Given the description of an element on the screen output the (x, y) to click on. 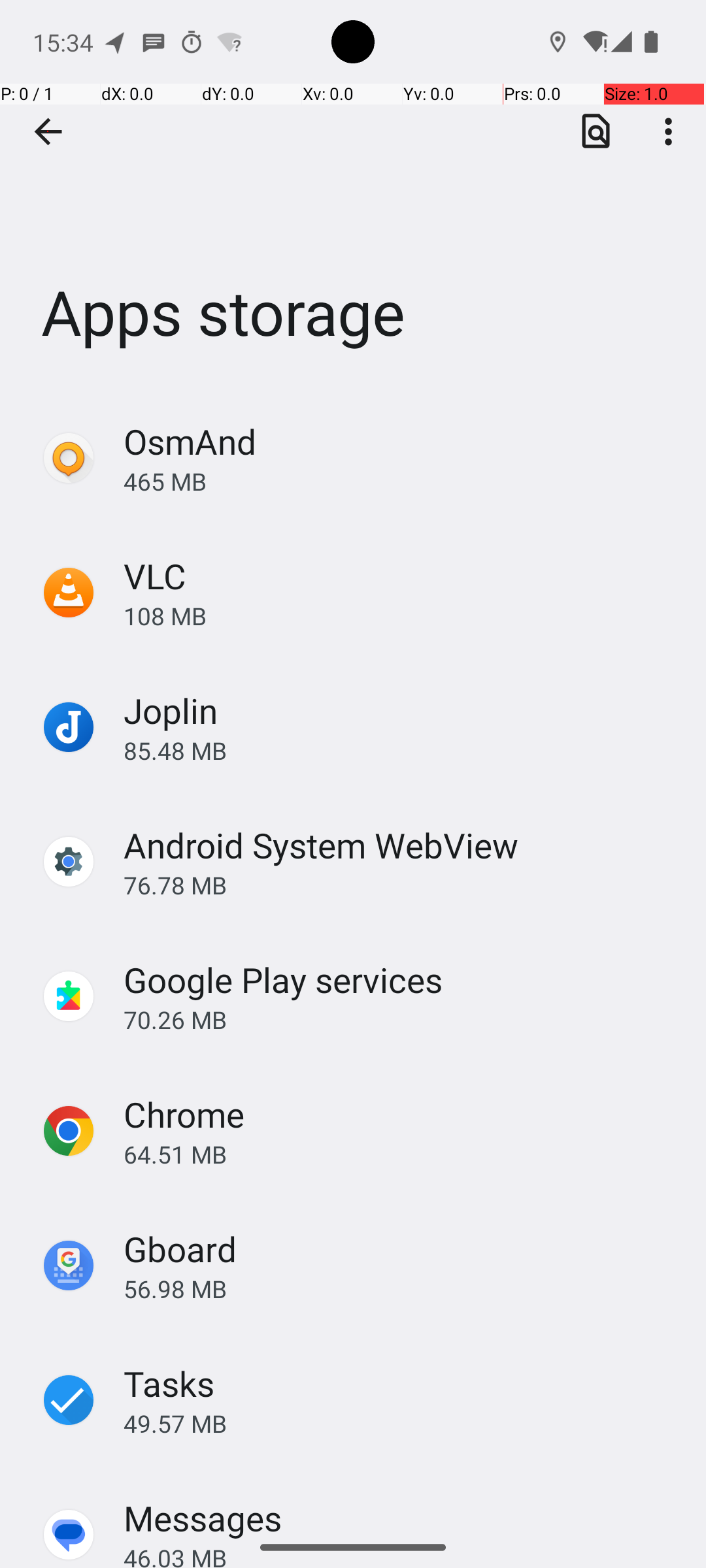
Apps storage Element type: android.widget.FrameLayout (353, 195)
465 MB Element type: android.widget.TextView (400, 480)
108 MB Element type: android.widget.TextView (400, 615)
85.48 MB Element type: android.widget.TextView (400, 750)
76.78 MB Element type: android.widget.TextView (400, 884)
70.26 MB Element type: android.widget.TextView (400, 1019)
64.51 MB Element type: android.widget.TextView (400, 1153)
Gboard Element type: android.widget.TextView (179, 1248)
56.98 MB Element type: android.widget.TextView (400, 1288)
49.57 MB Element type: android.widget.TextView (400, 1422)
